Given the description of an element on the screen output the (x, y) to click on. 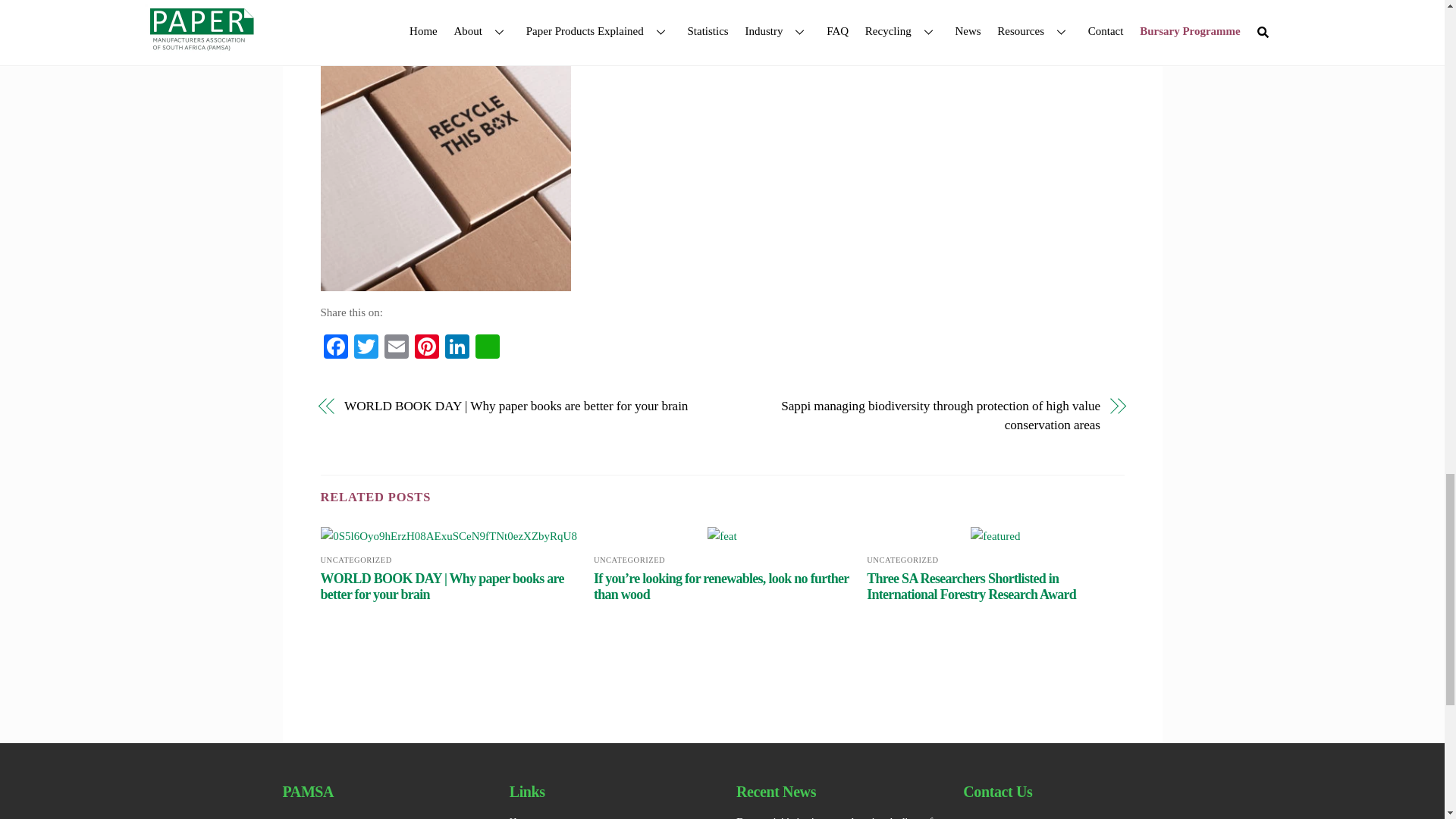
Twitter (365, 348)
Recycle-this-Box (445, 165)
feat (721, 535)
featured (995, 535)
WhatsApp (486, 348)
Pinterest (425, 348)
LinkedIn (456, 348)
5709 (721, 165)
Paper Packaging - Credit Mpact (998, 165)
0S5l6Oyo9hErzH08AExuSCeN9fTNt0ezXZbyRqU8 (448, 535)
